Given the description of an element on the screen output the (x, y) to click on. 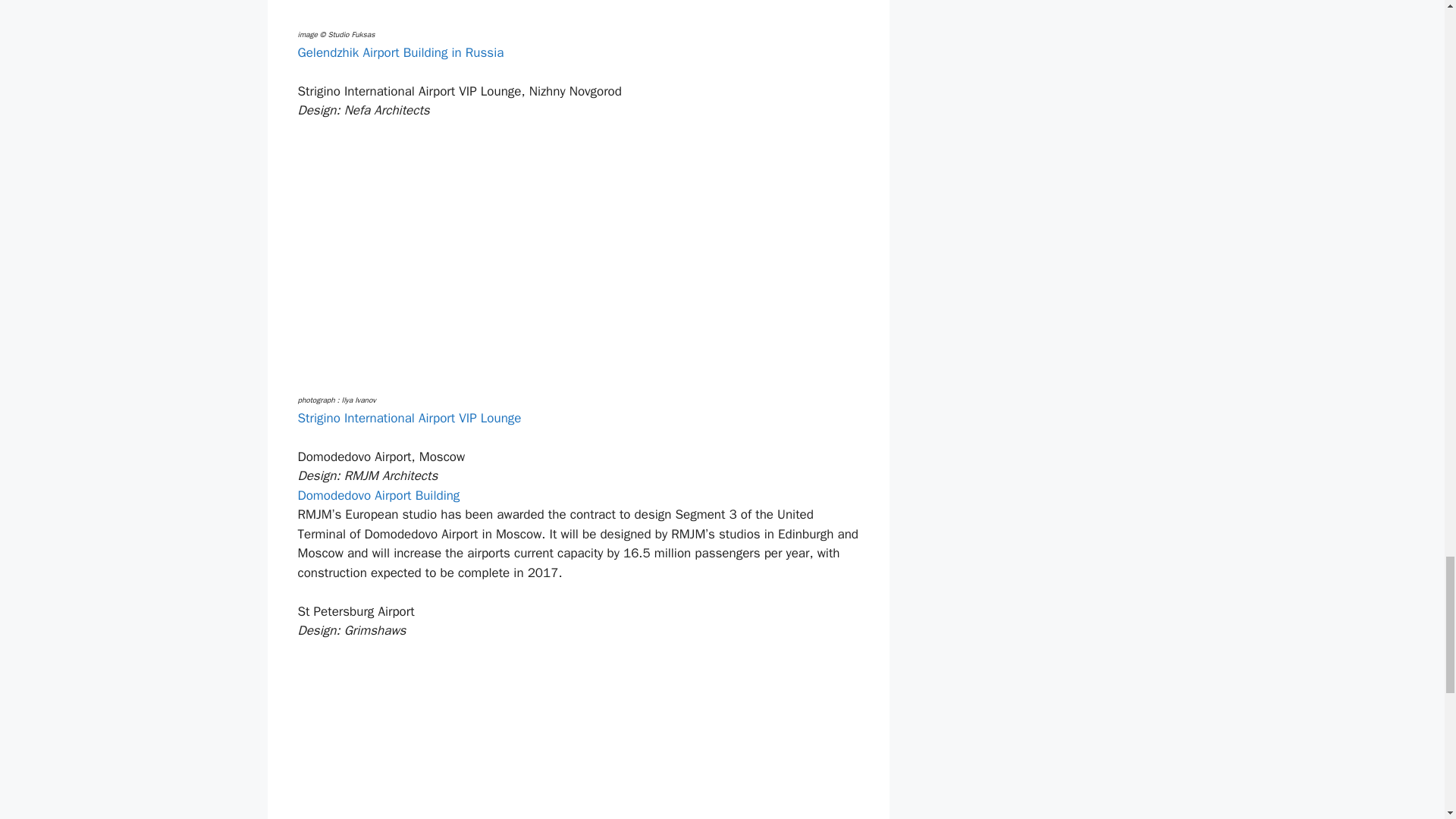
Gelendzhik Airport Building in Russia (400, 52)
Strigino International Airport VIP Lounge (409, 417)
Domodedovo Airport Building (378, 495)
